Given the description of an element on the screen output the (x, y) to click on. 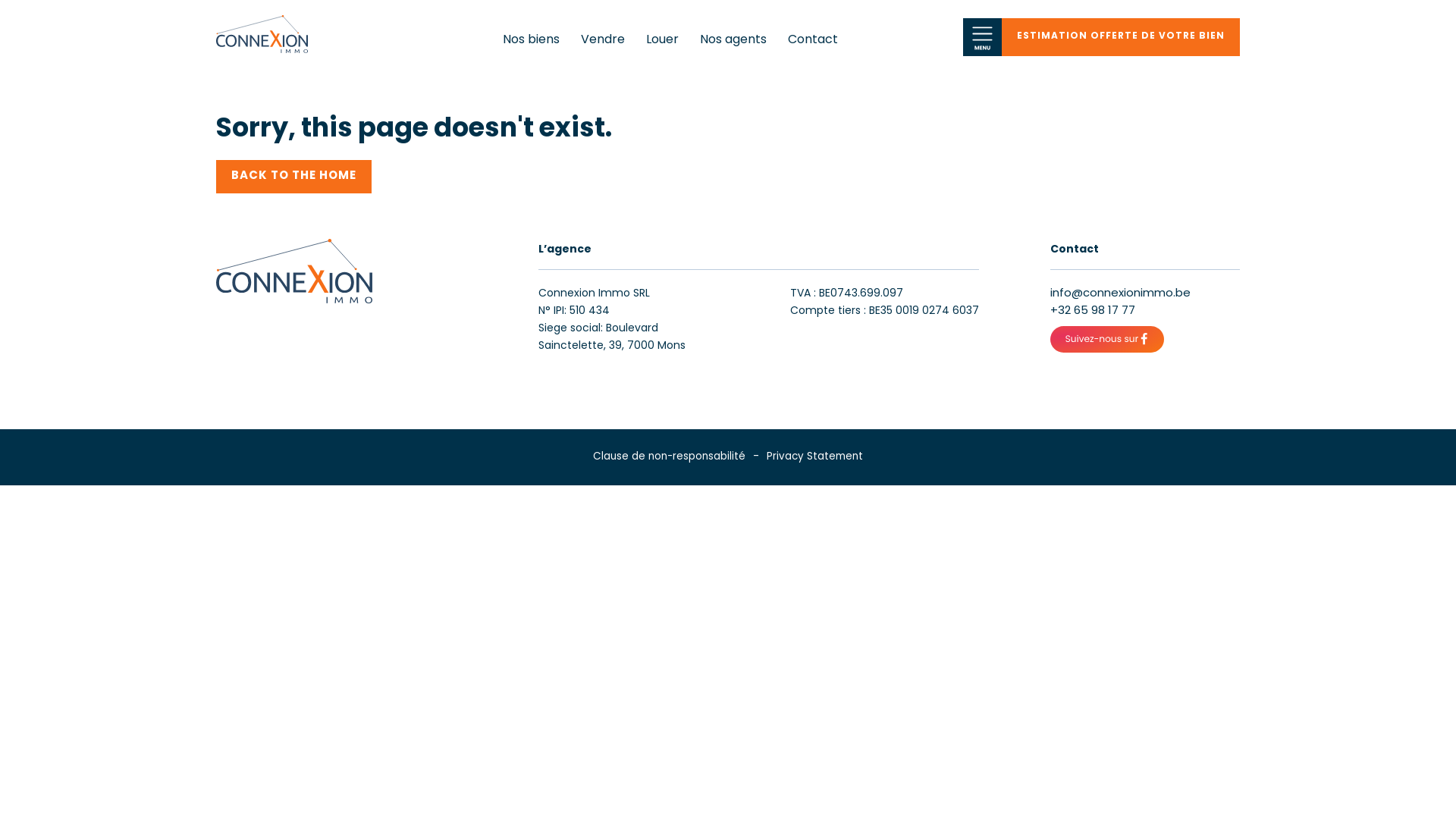
ESTIMATION OFFERTE DE VOTRE BIEN Element type: text (1120, 37)
Vendre Element type: text (602, 40)
Louer Element type: text (662, 40)
BACK TO THE HOME Element type: text (293, 176)
Nos biens Element type: text (530, 40)
Contact Element type: text (812, 40)
Privacy Statement Element type: text (814, 456)
Nos agents Element type: text (732, 40)
